Given the description of an element on the screen output the (x, y) to click on. 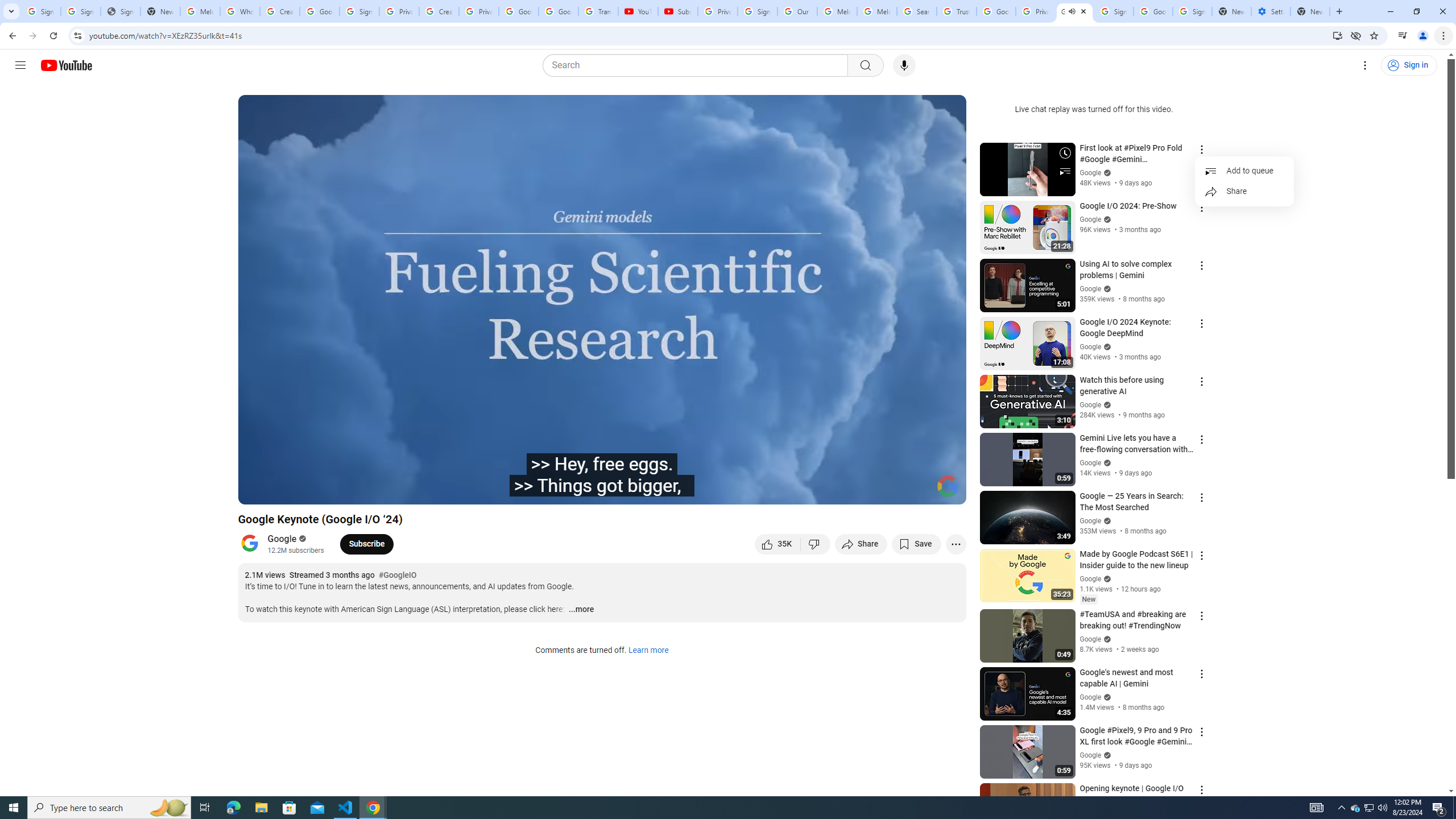
New Tab (1310, 11)
Share (861, 543)
Search our Doodle Library Collection - Google Doodles (916, 11)
Install YouTube (1336, 35)
Settings - Addresses and more (1270, 11)
Create your Google Account (438, 11)
Search with your voice (903, 65)
Sign in - Google Accounts (1192, 11)
